Given the description of an element on the screen output the (x, y) to click on. 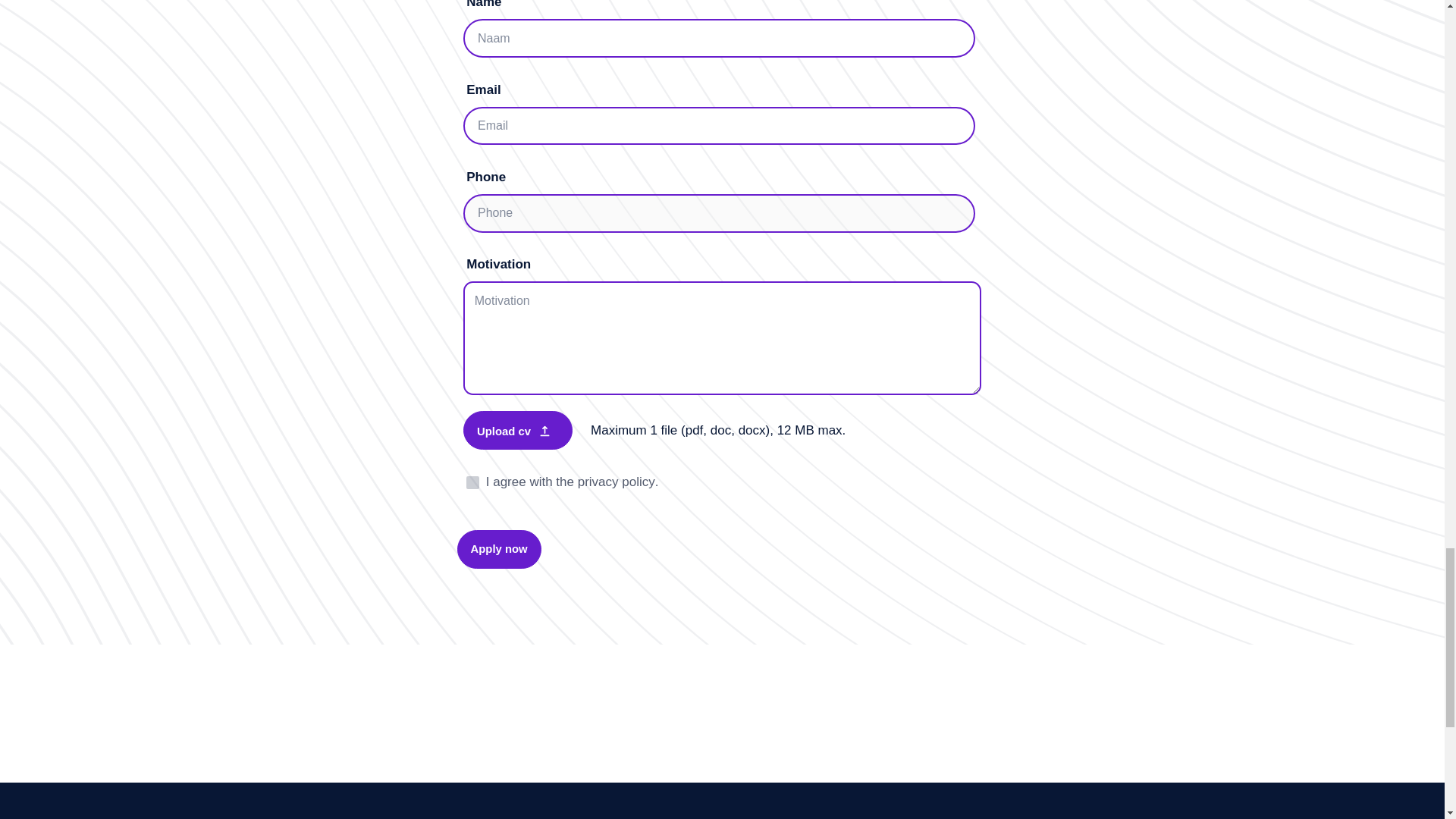
on (472, 481)
privacy policy (616, 482)
Apply now (498, 548)
